Given the description of an element on the screen output the (x, y) to click on. 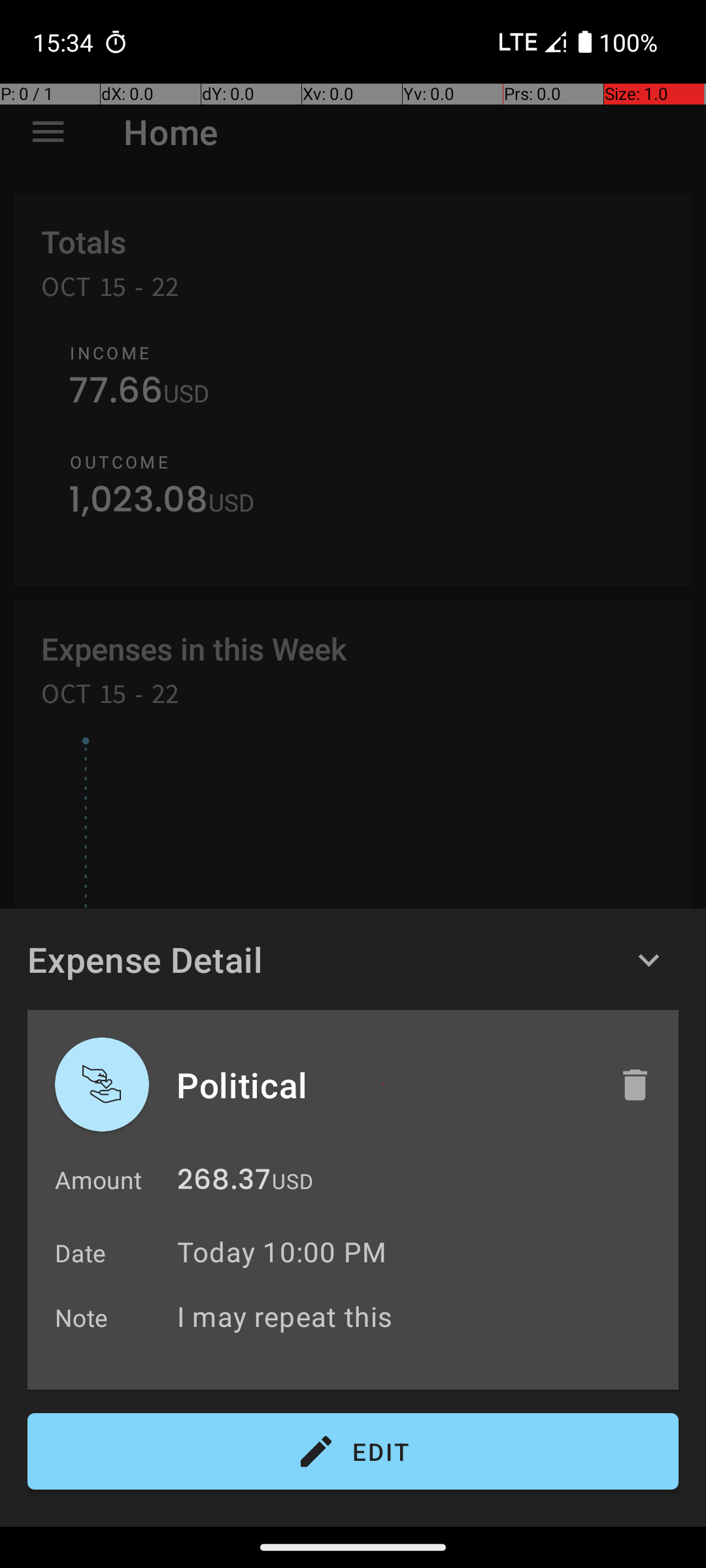
Political Element type: android.widget.TextView (383, 1084)
268.37 Element type: android.widget.TextView (223, 1182)
Today 10:00 PM Element type: android.widget.TextView (281, 1251)
